Given the description of an element on the screen output the (x, y) to click on. 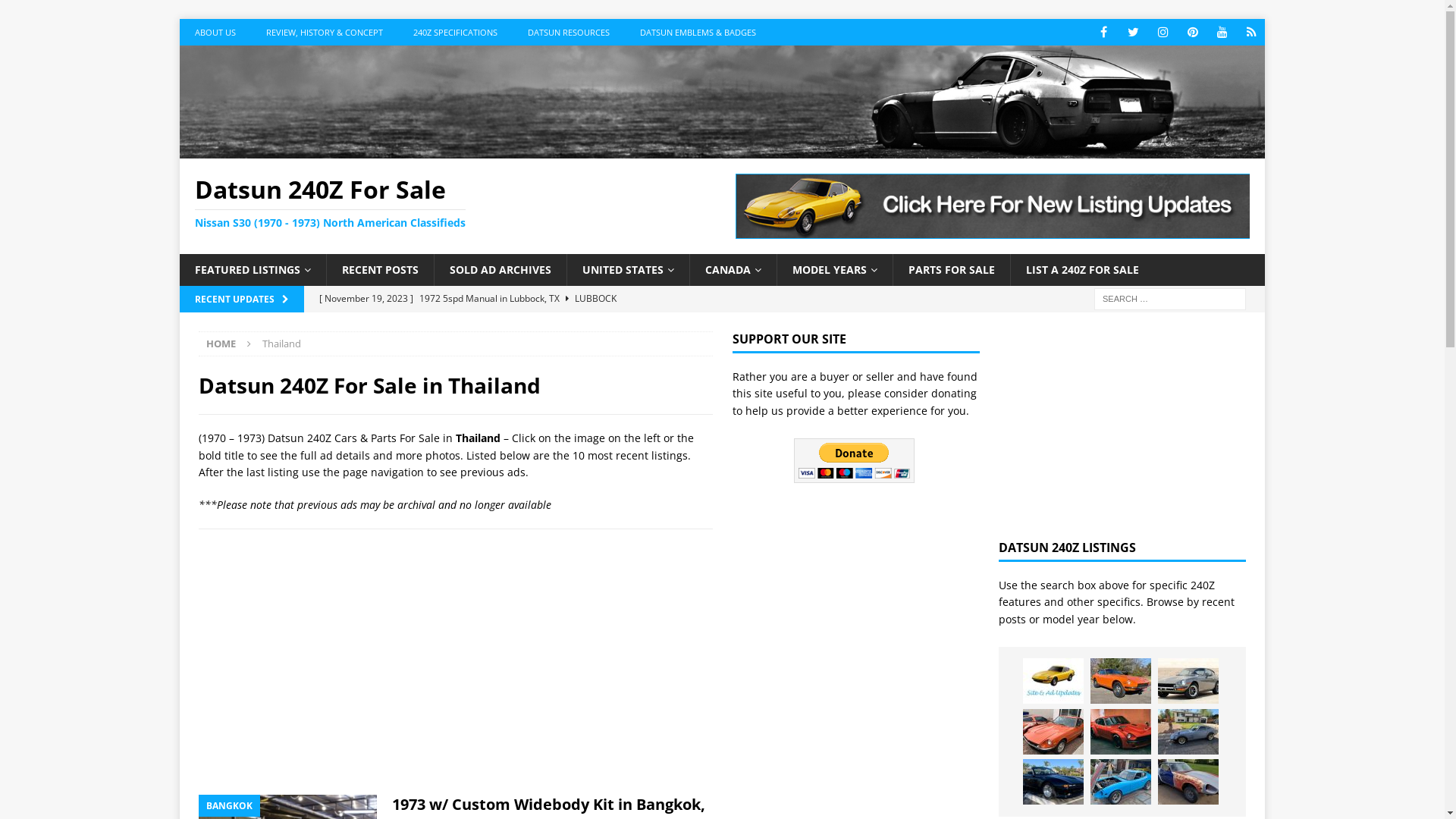
1972 305 in Grand Junction, CO Element type: hover (1187, 731)
1972 L24 5spd Manual in El Paso, TX Element type: hover (1052, 731)
DATSUN EMBLEMS & BADGES Element type: text (697, 31)
SOLD AD ARCHIVES Element type: text (499, 269)
Datsun 240Z For Sale Element type: hover (721, 149)
HOME Element type: text (220, 343)
UNITED STATES Element type: text (627, 269)
Search Element type: text (56, 11)
MODEL YEARS Element type: text (834, 269)
Advertisement Element type: hover (1121, 425)
DATSUN RESOURCES Element type: text (568, 31)
REVIEW, HISTORY & CONCEPT Element type: text (324, 31)
1972 5-Speed in Sterling, VA Element type: hover (1120, 680)
Advertisement Element type: hover (455, 661)
240Z SPECIFICATIONS Element type: text (455, 31)
ABOUT US Element type: text (215, 31)
RECENT POSTS Element type: text (379, 269)
1973 Project in Medicine Hat, AB Element type: hover (1187, 781)
1972 5-Speed in Sterling, VA Element type: hover (598, 324)
1972 5spd Auto in San Carlos, CA Element type: hover (1120, 781)
CANADA Element type: text (732, 269)
1972 w/ Modified Body in Tustin, CA Element type: hover (1052, 781)
Ad Updates for November 19th 2023 Element type: hover (1052, 680)
PARTS FOR SALE Element type: text (951, 269)
LIST A 240Z FOR SALE Element type: text (1082, 269)
FEATURED LISTINGS Element type: text (252, 269)
1972 5spd Manual in Lubbock, TX Element type: hover (1187, 680)
1972 Manual in Fairfield, OH Element type: hover (1120, 731)
